Given the description of an element on the screen output the (x, y) to click on. 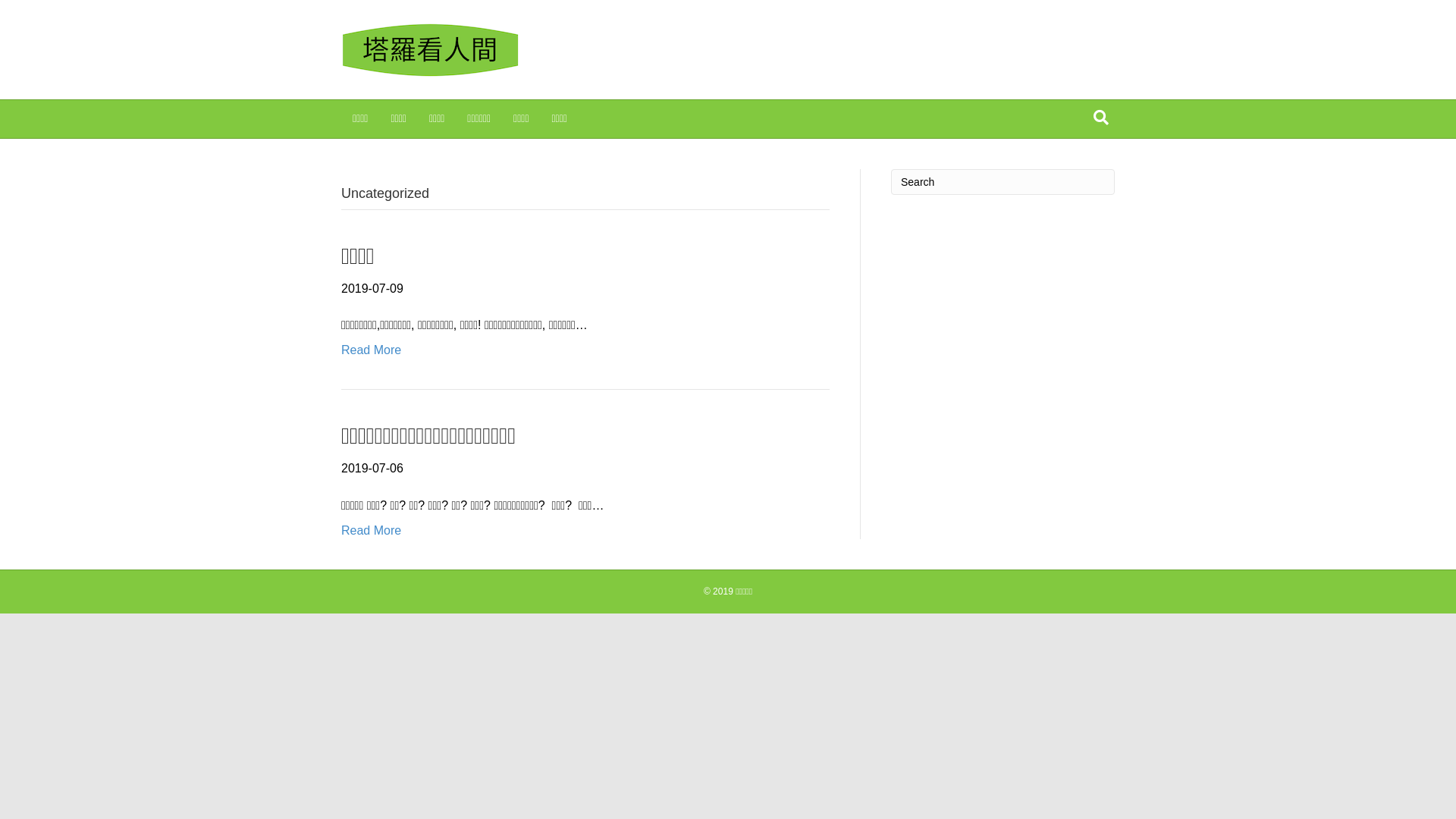
Read More Element type: text (371, 530)
Read More Element type: text (371, 349)
Type and press Enter to search. Element type: hover (1002, 181)
